Given the description of an element on the screen output the (x, y) to click on. 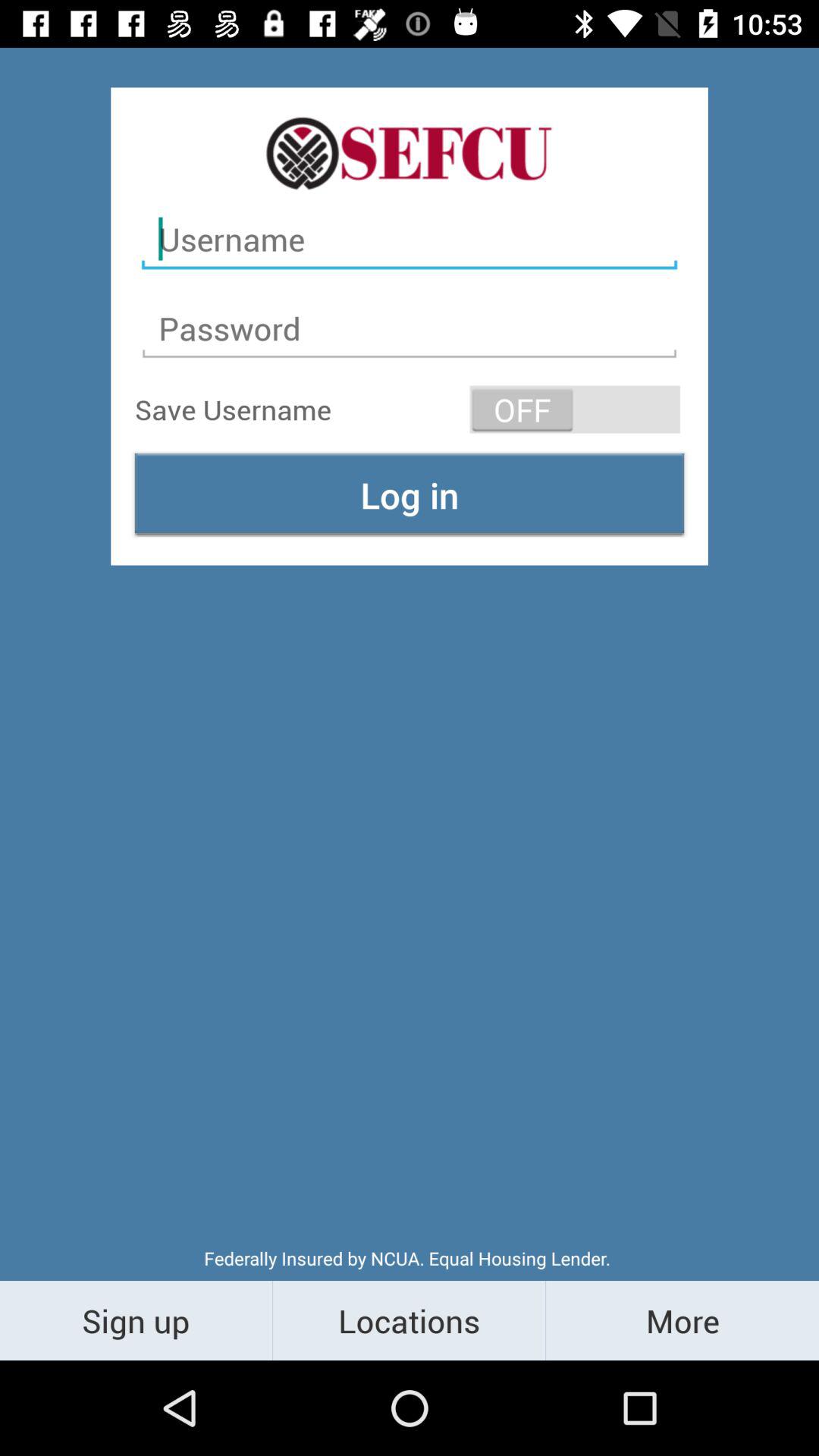
scroll to sign up item (136, 1320)
